Given the description of an element on the screen output the (x, y) to click on. 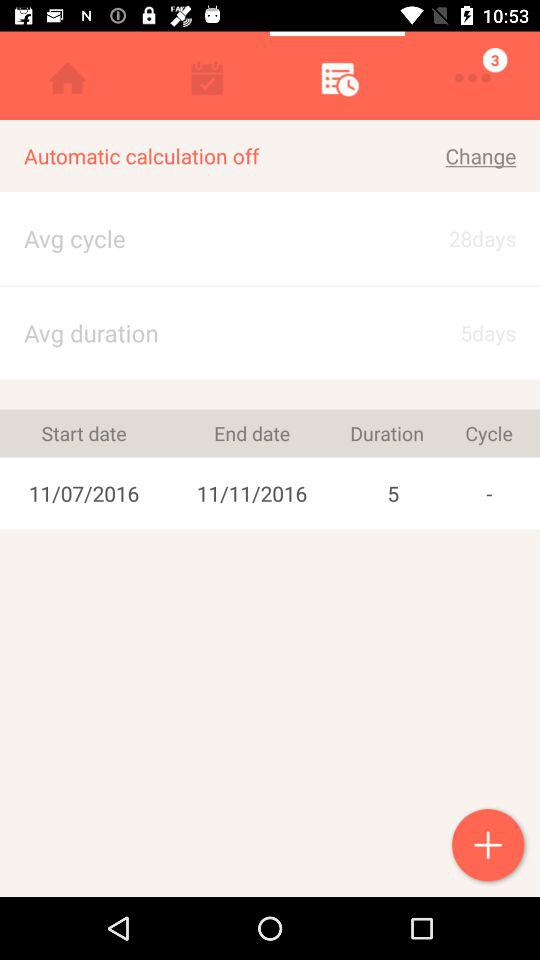
tap the icon below duration app (393, 493)
